Given the description of an element on the screen output the (x, y) to click on. 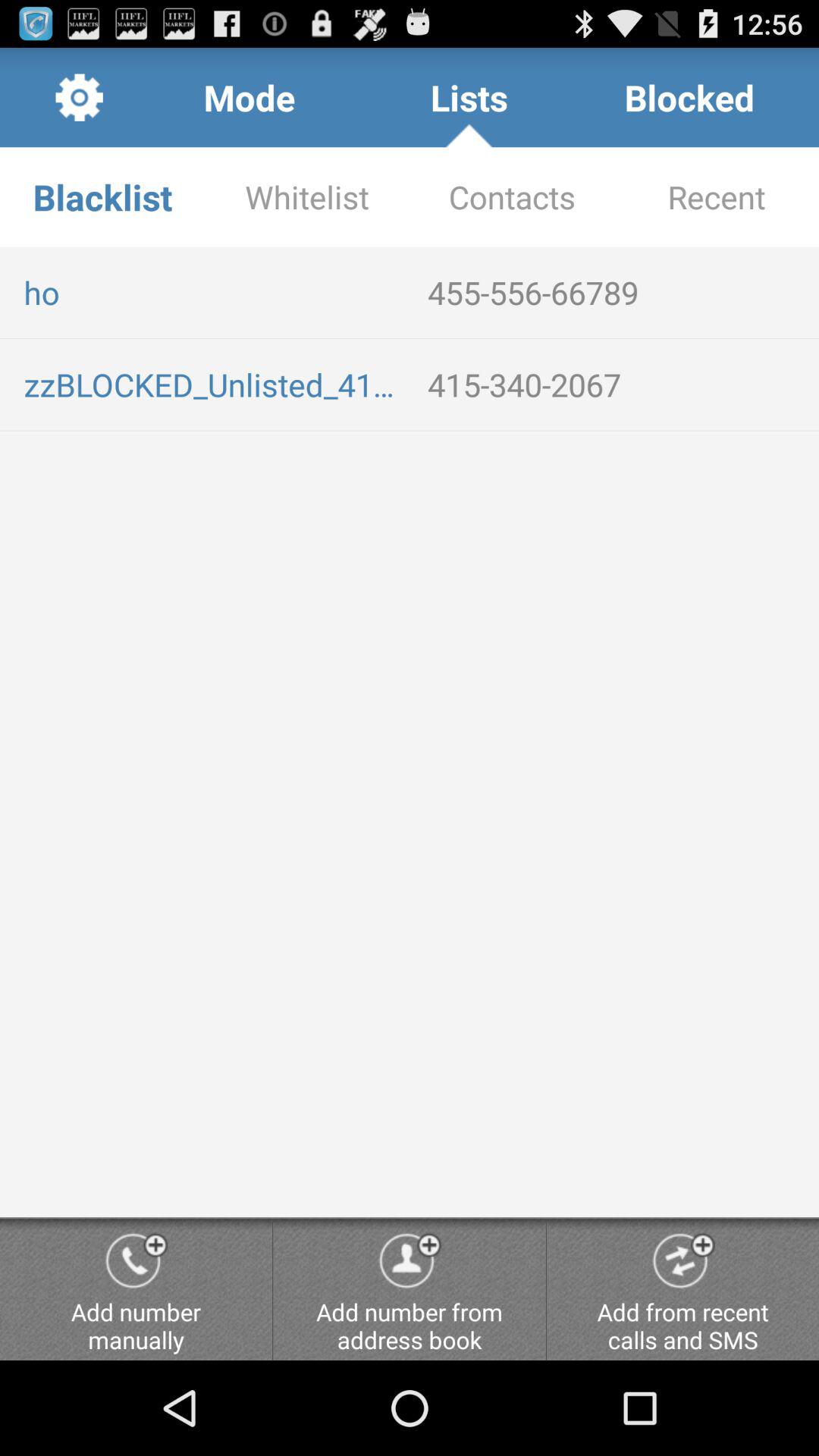
tap app to the left of the contacts item (306, 196)
